Given the description of an element on the screen output the (x, y) to click on. 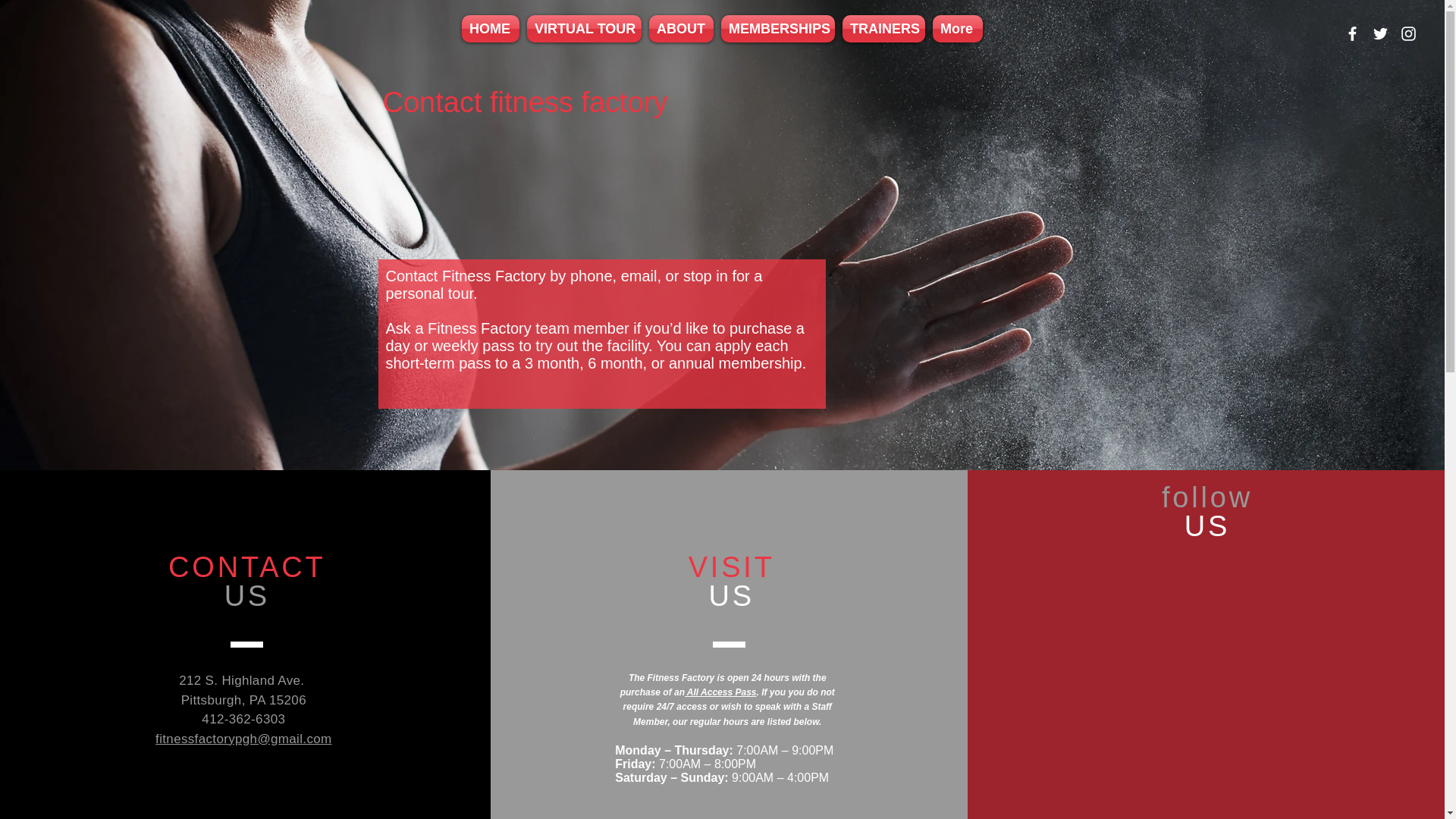
ABOUT (681, 28)
HOME (491, 28)
TRAINERS (883, 28)
VIRTUAL TOUR (583, 28)
 All Access Pass (720, 692)
MEMBERSHIPS (777, 28)
